Given the description of an element on the screen output the (x, y) to click on. 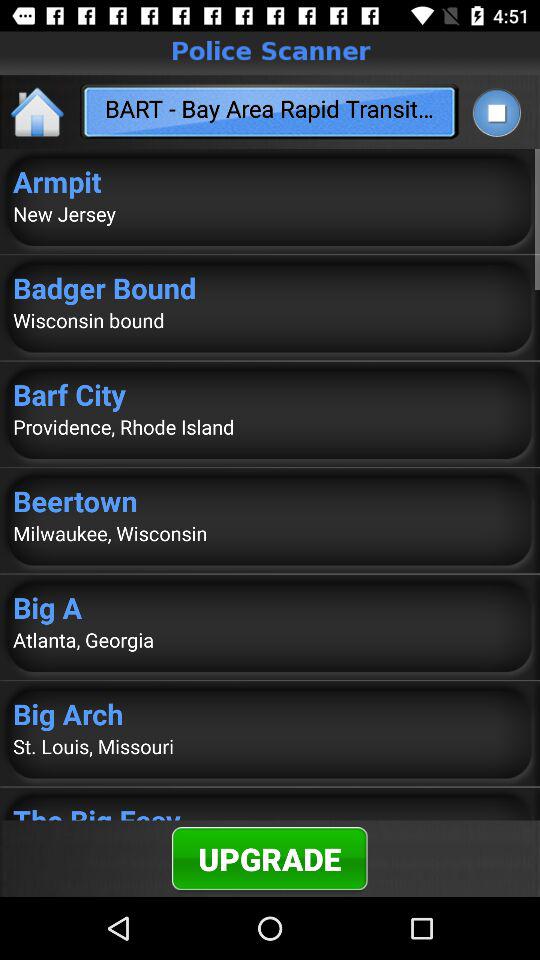
stop playing (496, 111)
